Given the description of an element on the screen output the (x, y) to click on. 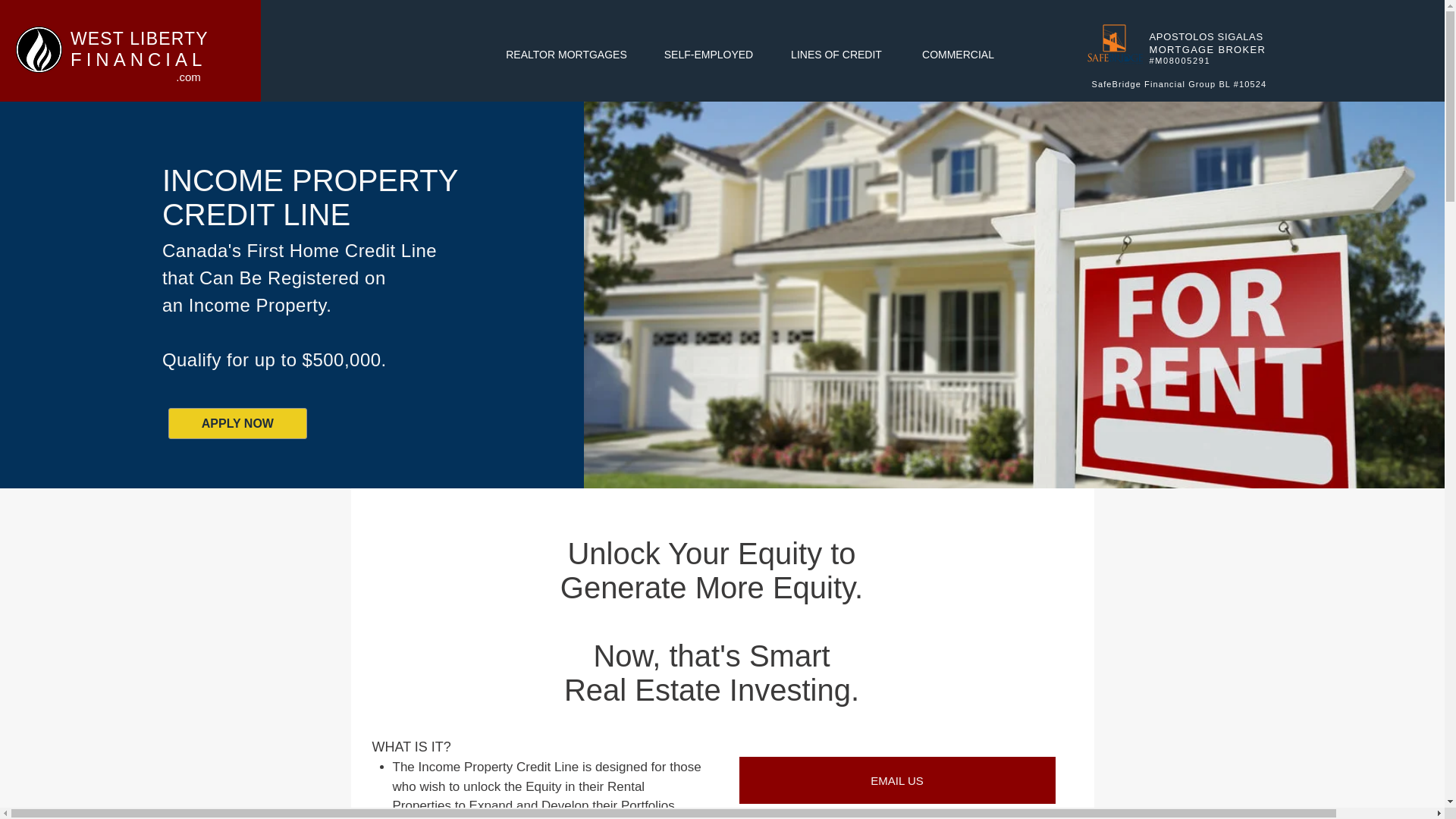
EMAIL US (896, 779)
APPLY NOW (237, 422)
WEST LIBERTY (138, 38)
black-and-white-fire-clipart-black-lg-md.png (39, 49)
.com (188, 76)
FINANCIAL (137, 59)
REALTOR MORTGAGES (565, 54)
APOSTOLOS SIGALAS (1206, 36)
COMMERCIAL (957, 54)
